Given the description of an element on the screen output the (x, y) to click on. 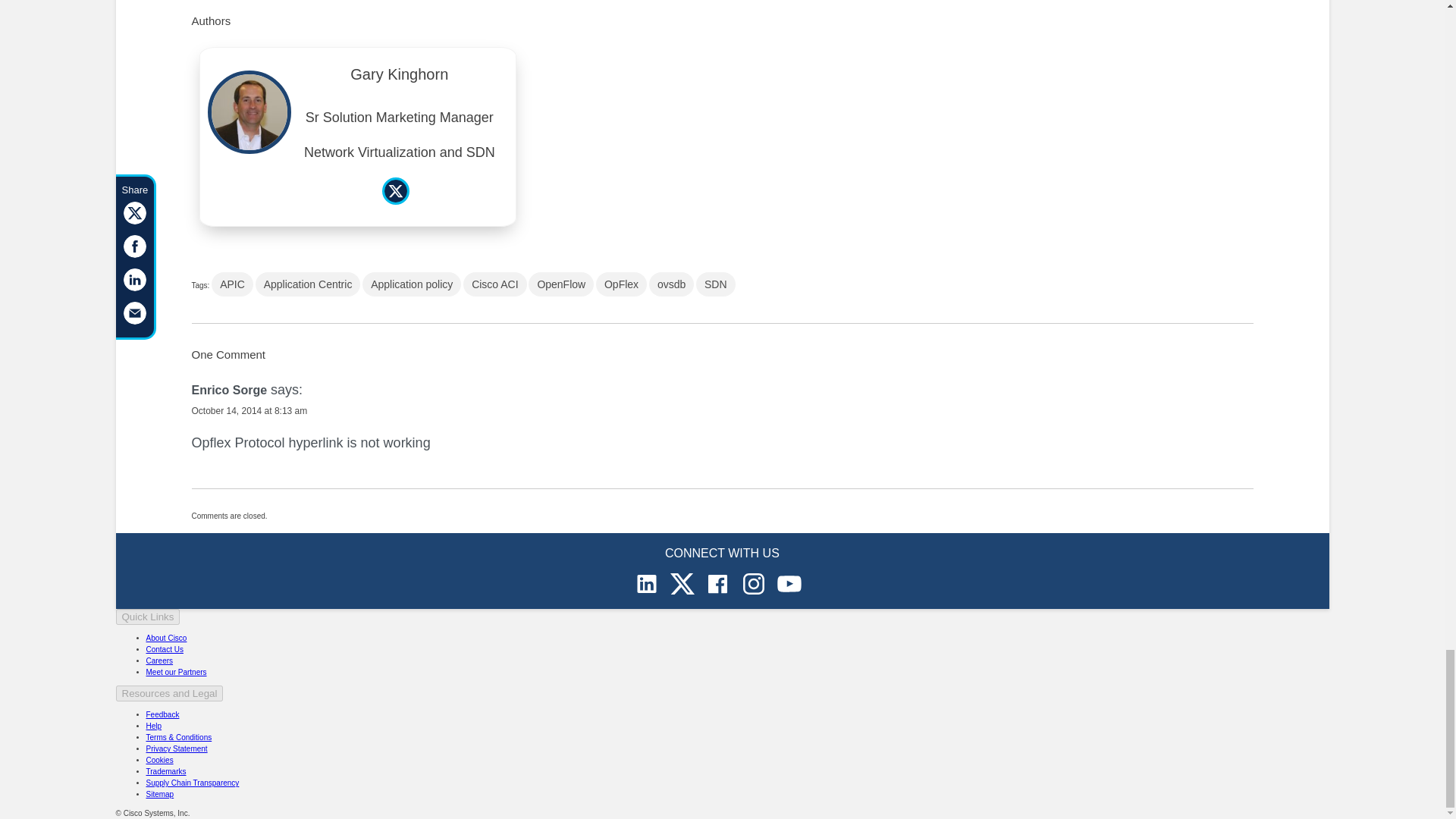
Application Centric (308, 283)
APIC (232, 283)
Gary Kinghorn (399, 78)
Cisco ACI (494, 283)
OpenFlow (561, 283)
Application policy (411, 283)
